Given the description of an element on the screen output the (x, y) to click on. 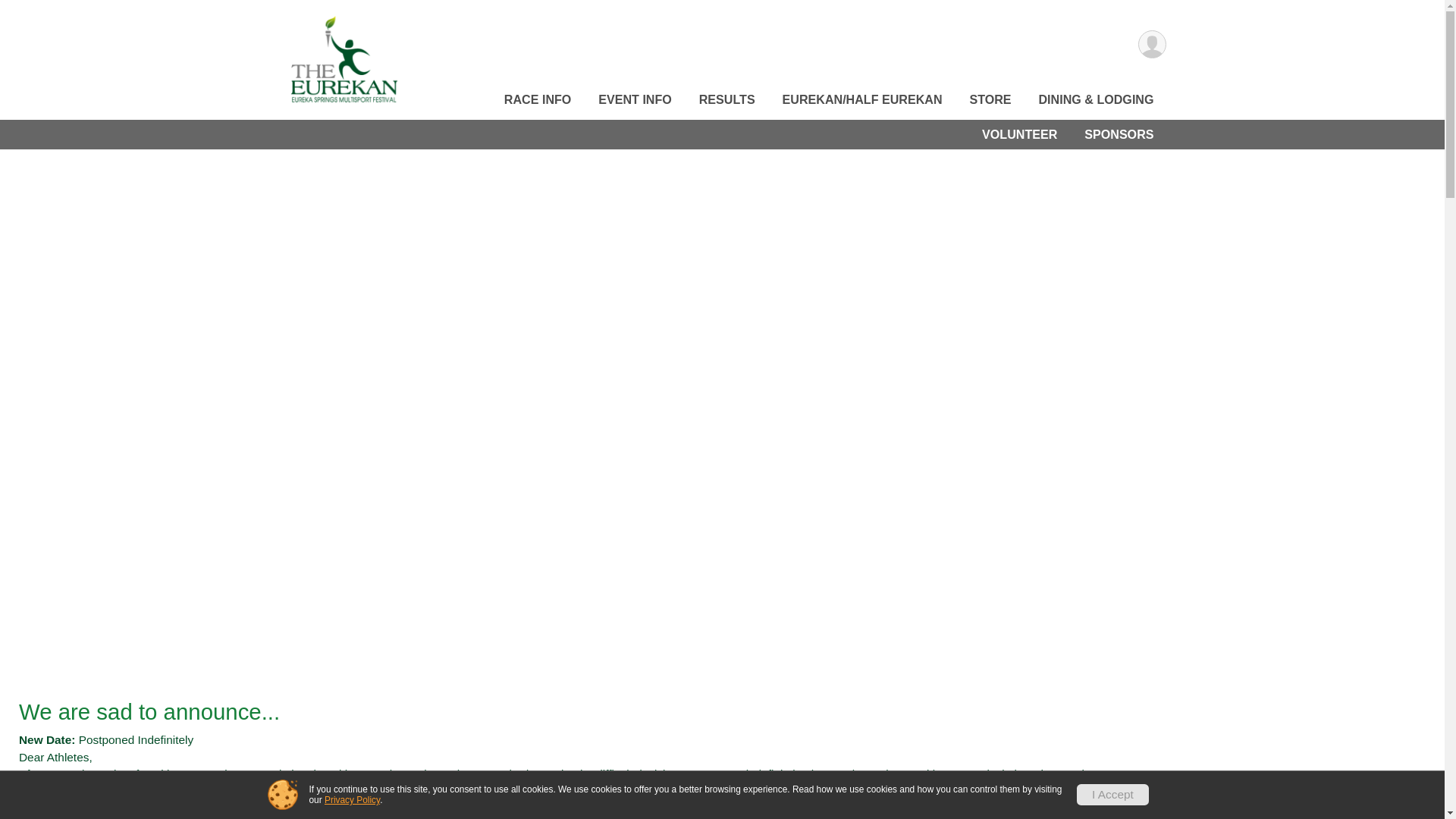
RACE INFO (537, 98)
EVENT INFO (635, 98)
